Given the description of an element on the screen output the (x, y) to click on. 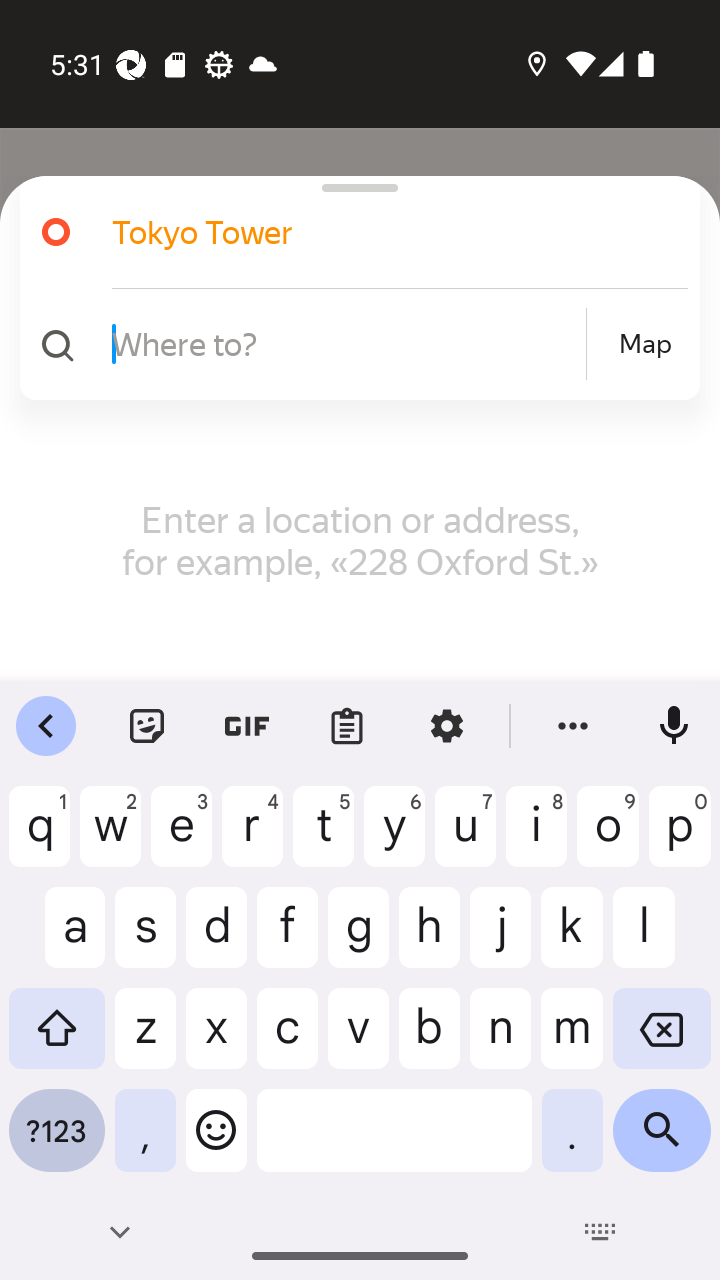
Tokyo Tower (352, 232)
Tokyo Tower (373, 232)
Where to? Map Map (352, 343)
Map (645, 343)
Where to? (346, 343)
